Given the description of an element on the screen output the (x, y) to click on. 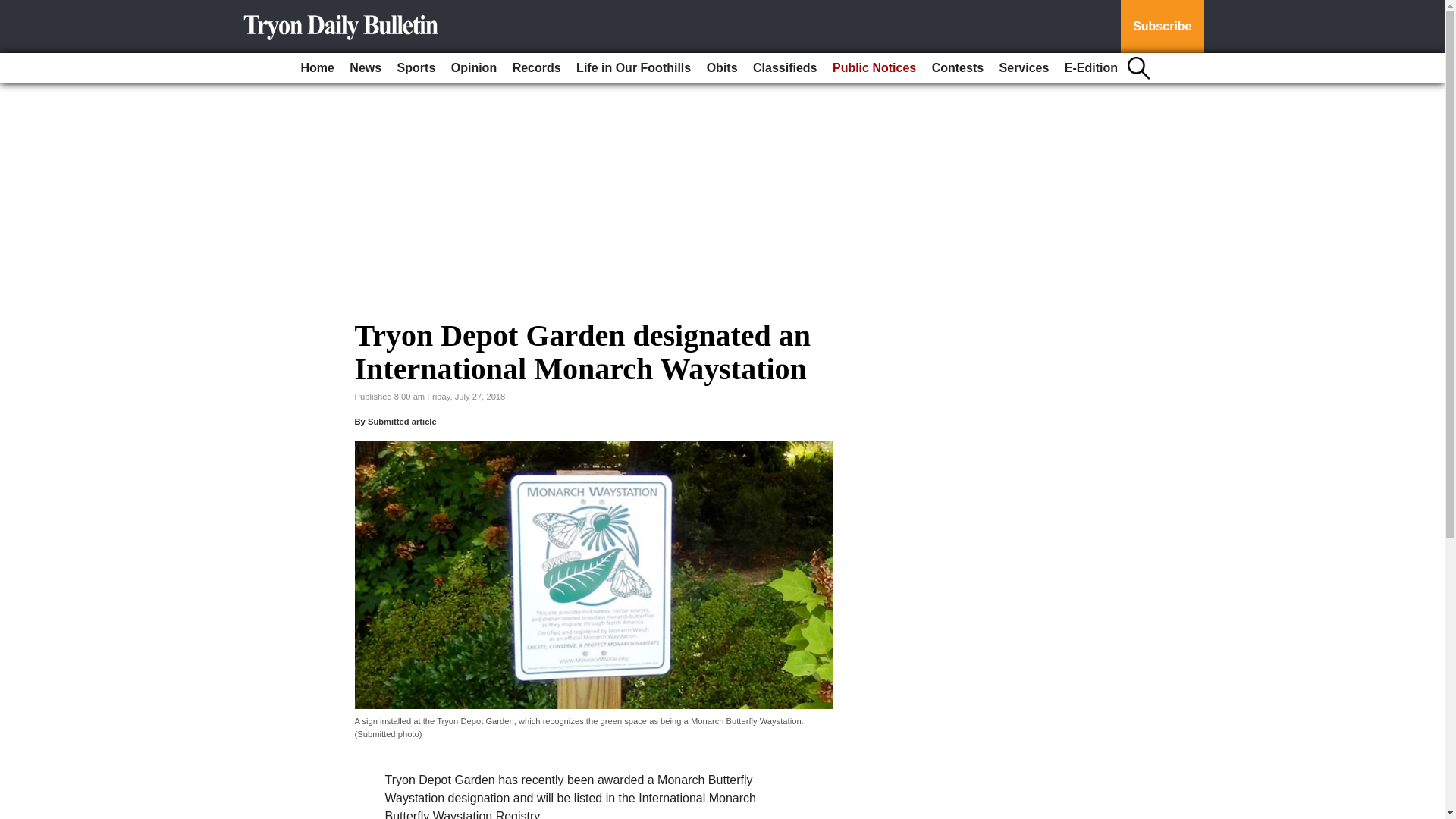
Opinion (473, 68)
Go (13, 9)
Subscribe (1162, 26)
Home (316, 68)
Obits (722, 68)
E-Edition (1091, 68)
Submitted article (402, 420)
Classifieds (784, 68)
Contests (958, 68)
News (365, 68)
